Given the description of an element on the screen output the (x, y) to click on. 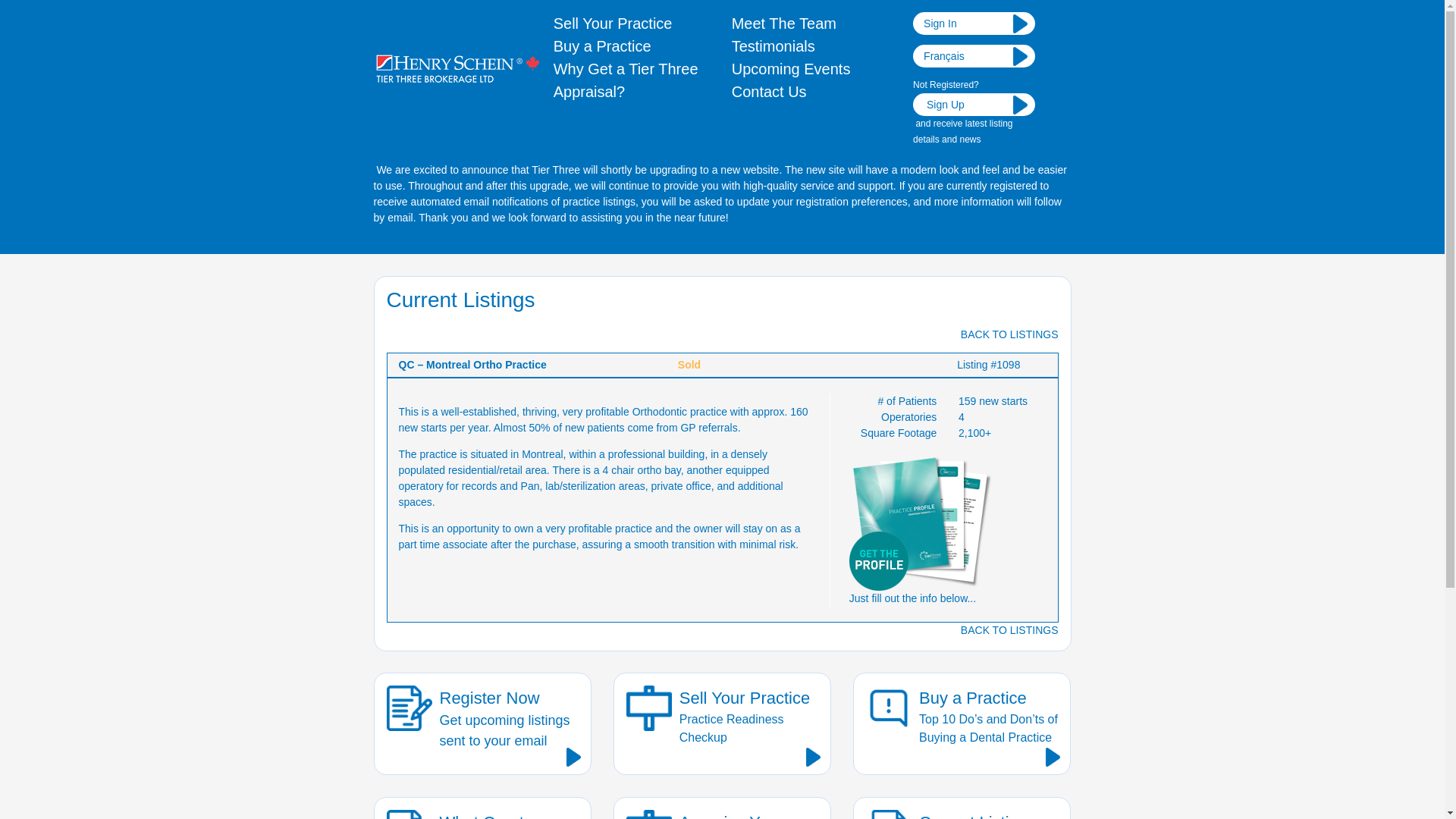
BACK TO LISTINGS (1009, 630)
Contact Us (769, 91)
Appraise Your Practice (721, 807)
Testimonials (481, 723)
Sign In (481, 807)
Current Listings (773, 45)
 Sign Up (973, 23)
Upcoming Events (961, 807)
Buy a Practice (973, 104)
Meet The Team (791, 68)
BACK TO LISTINGS (601, 45)
Sell Your Practice (783, 23)
